Given the description of an element on the screen output the (x, y) to click on. 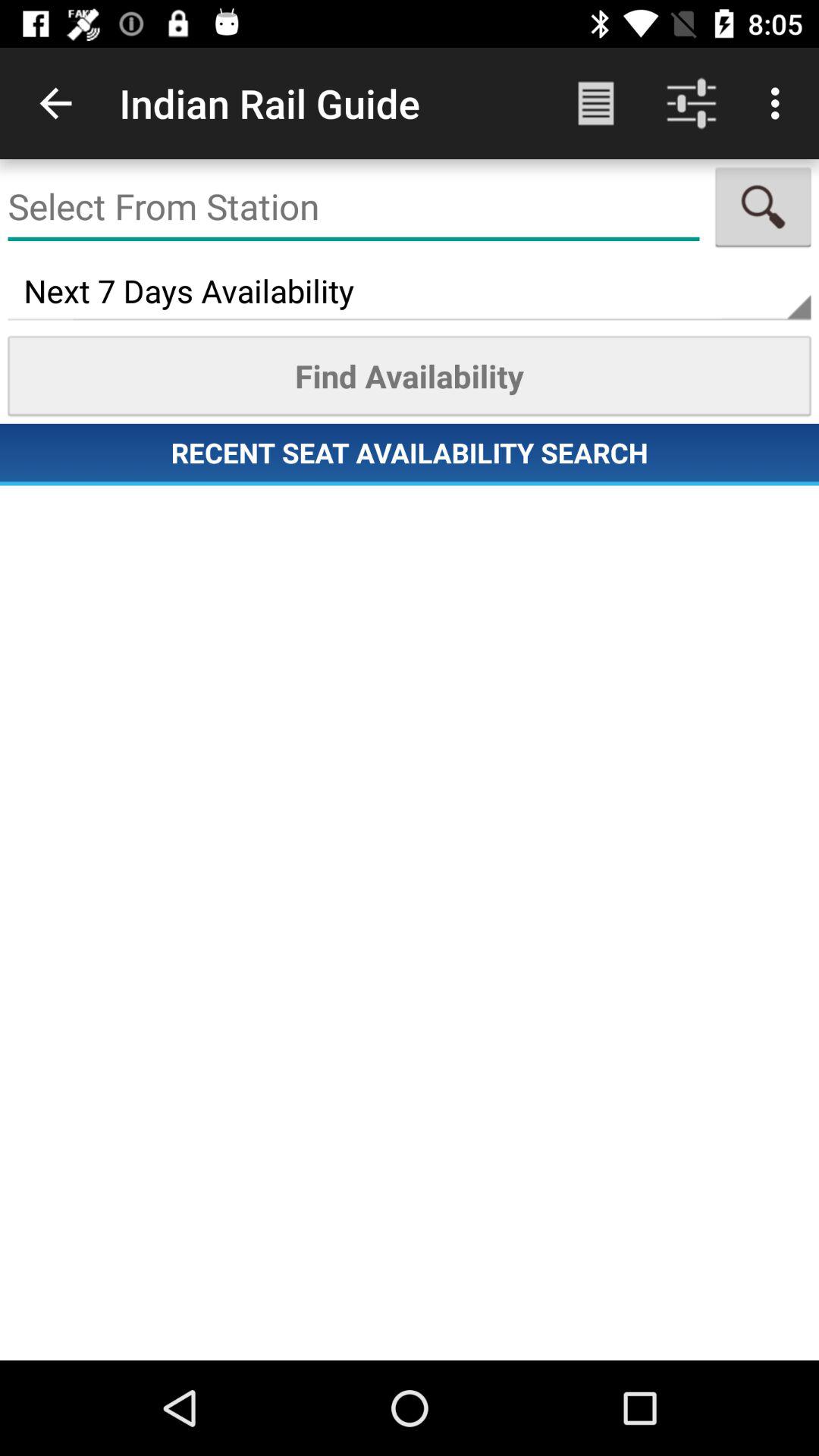
tap the item above recent seat availability icon (409, 375)
